Given the description of an element on the screen output the (x, y) to click on. 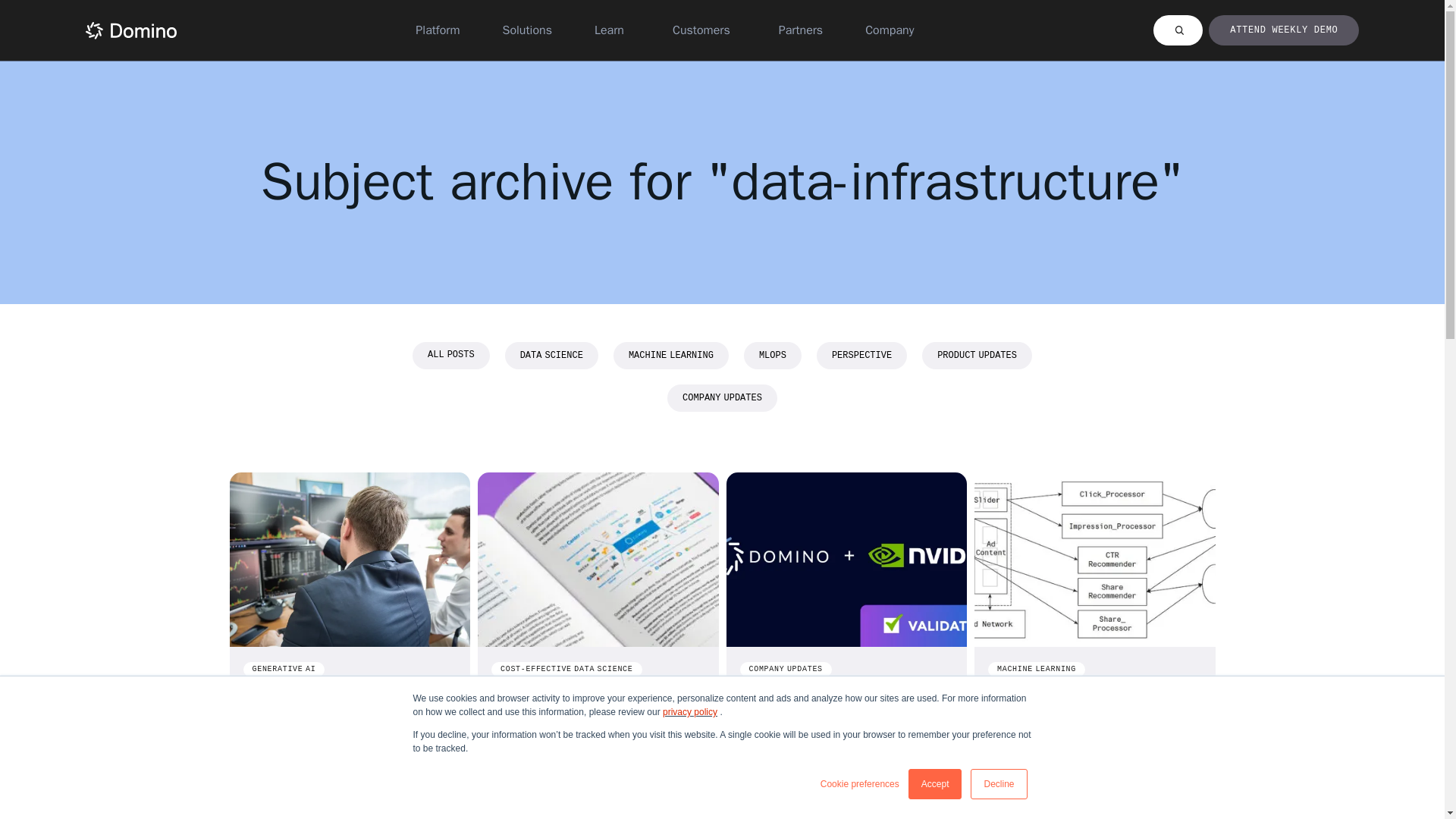
Domino accelerates GenAI with vector database access and RAG (331, 720)
Learn (609, 30)
Company (889, 30)
ATTEND WEEKLY DEMO (1283, 30)
ALL POSTS (450, 354)
Addison-Wesley Professional (1084, 778)
PRODUCT UPDATES (976, 354)
is announcing the validation (817, 778)
MLOPS (773, 354)
PERSPECTIVE (861, 354)
